Given the description of an element on the screen output the (x, y) to click on. 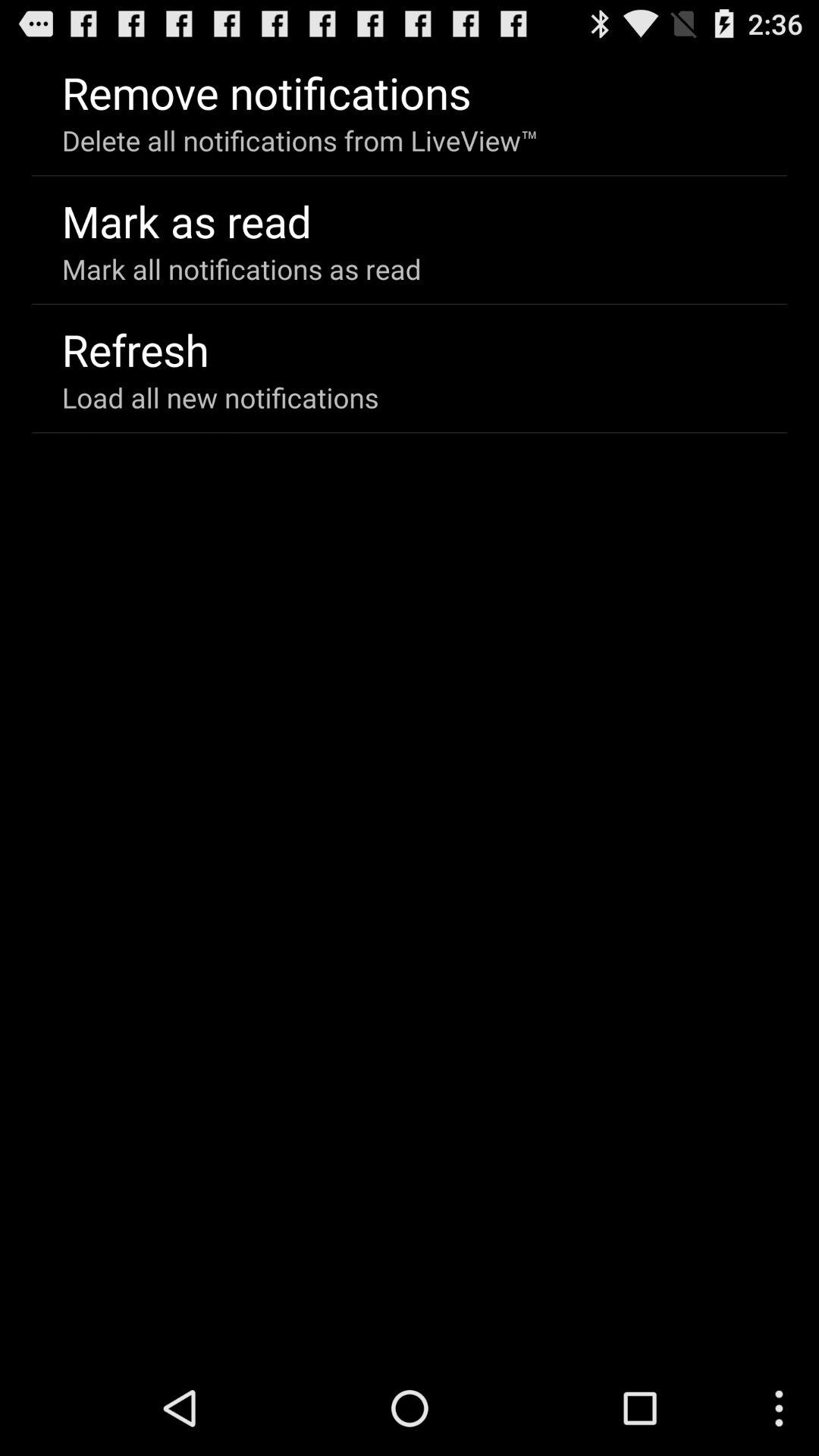
swipe until the load all new icon (219, 397)
